Given the description of an element on the screen output the (x, y) to click on. 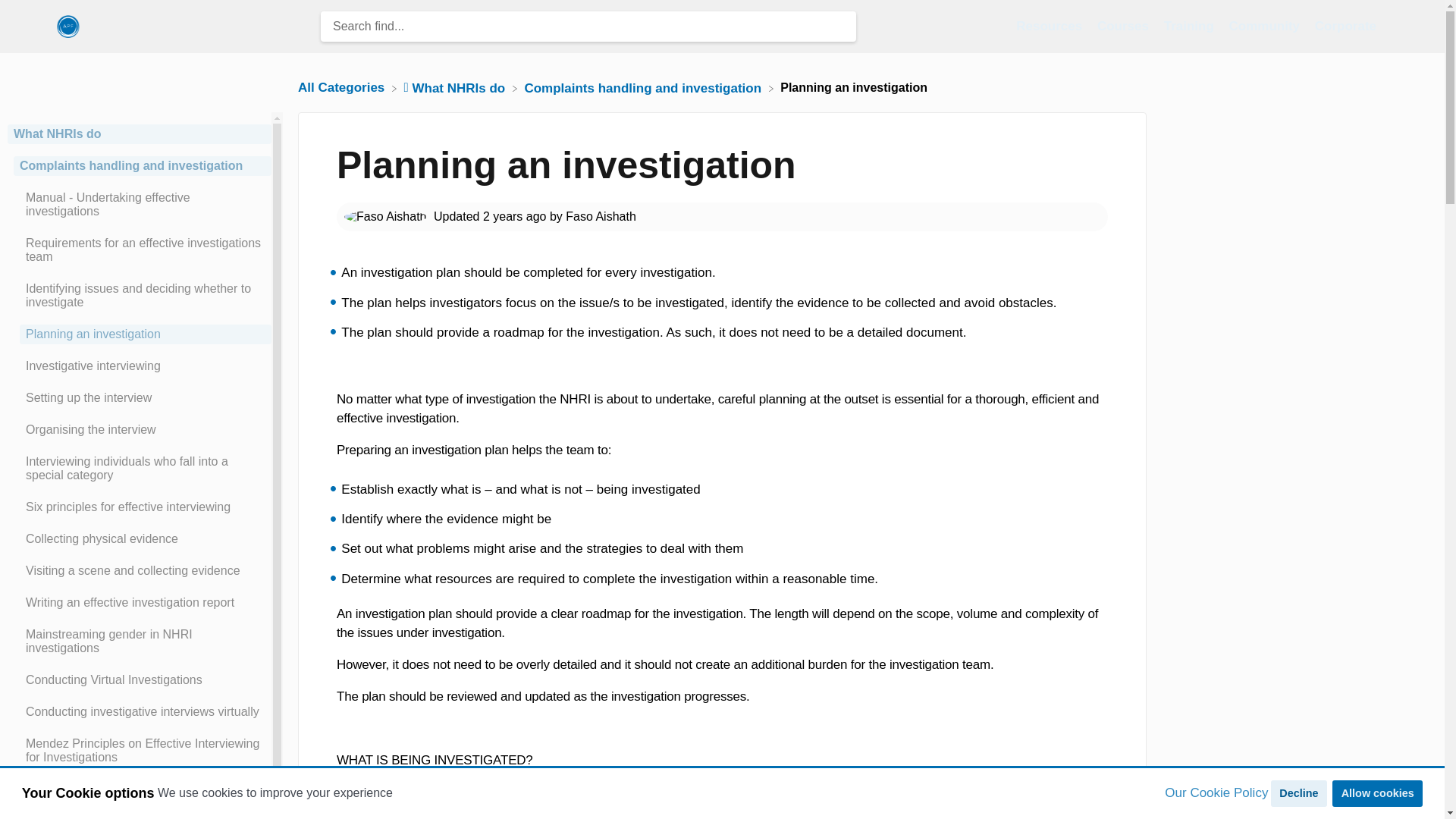
Corporate (1344, 25)
Decline (1298, 792)
Organising the interview (138, 429)
Community (1265, 25)
Training (1190, 25)
Conducting Virtual Investigations (138, 680)
Identifying issues and deciding whether to investigate (138, 295)
Setting up the interview (138, 397)
Manual - Undertaking effective investigations (138, 204)
Courses (1125, 25)
